Given the description of an element on the screen output the (x, y) to click on. 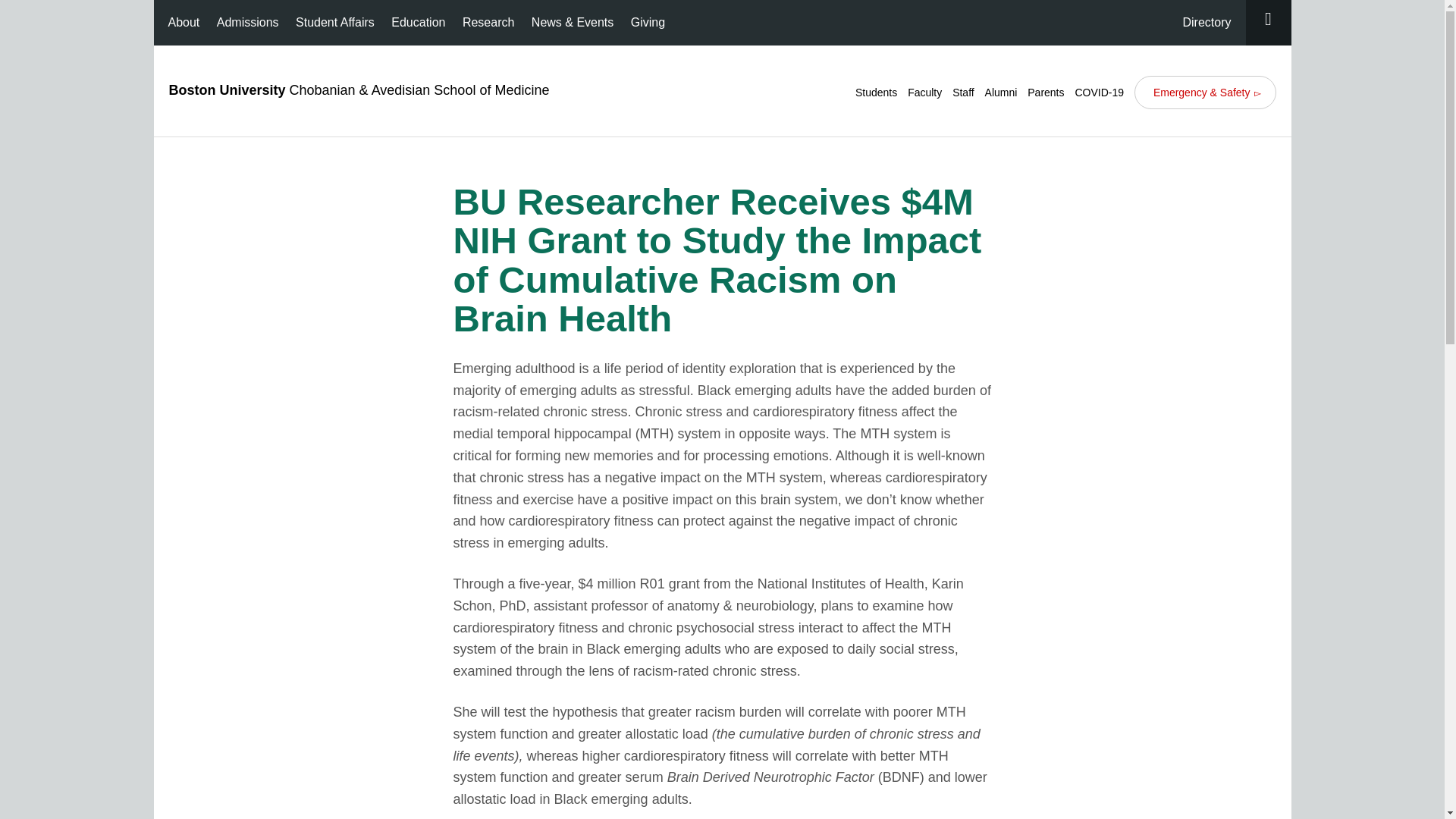
Navigate to: Giving (647, 22)
Admissions (247, 22)
COVID-19 (1099, 92)
Navigate to: Admissions (247, 22)
About (183, 22)
Research (488, 22)
Education (417, 22)
Alumni (1001, 92)
Navigate to: Education (417, 22)
Staff (963, 92)
